Given the description of an element on the screen output the (x, y) to click on. 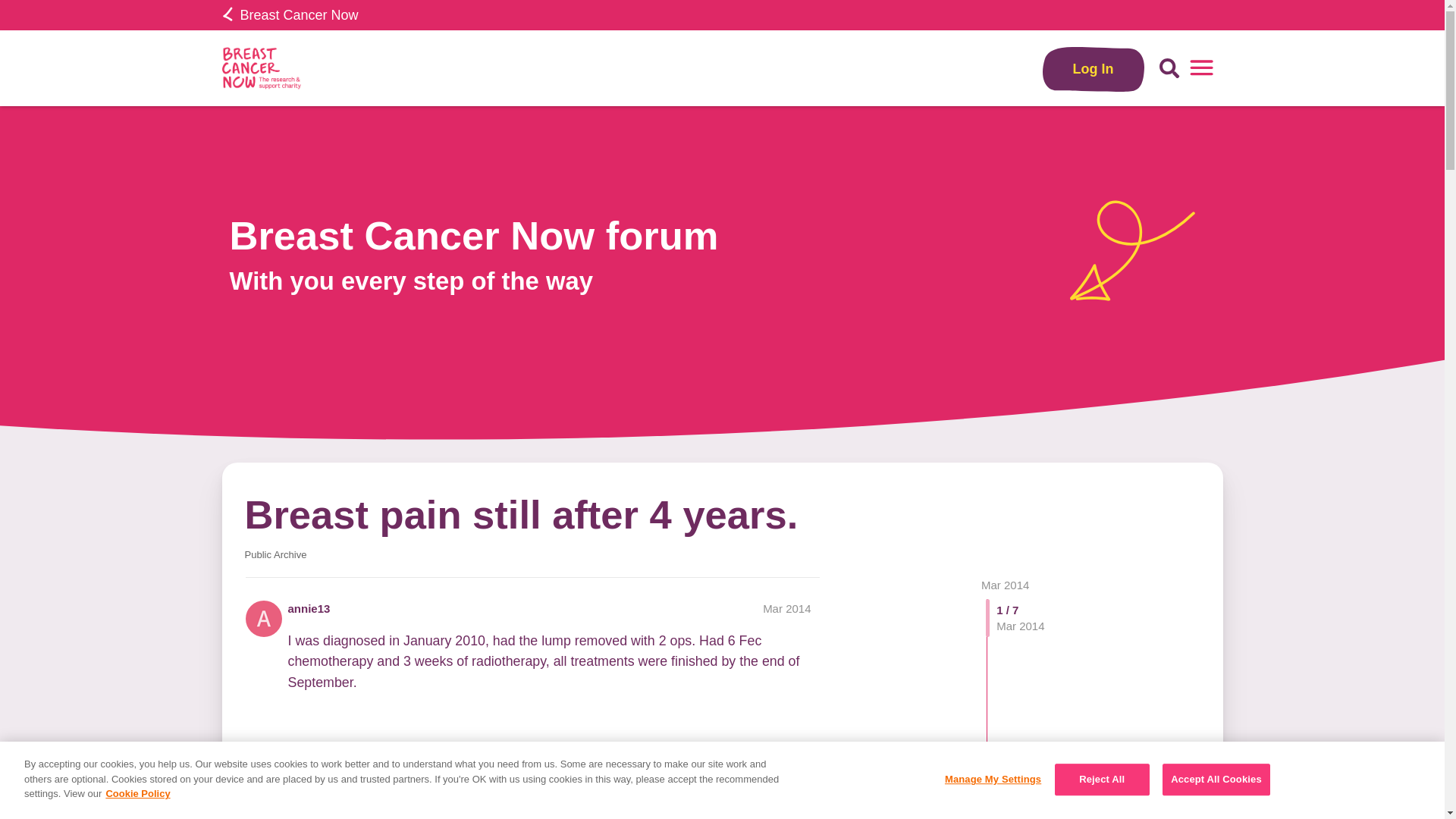
Mar 2014 (1005, 584)
Public Archive (274, 554)
Breast Cancer Now (289, 15)
Log In (1093, 68)
Post date (786, 608)
Breast pain still after 4 years. (520, 514)
Search (1169, 68)
menu (1201, 67)
annie13 (309, 608)
Archived posts which are available to view. (274, 554)
Mar 2014 (1005, 584)
Mar 2014 (786, 608)
